Given the description of an element on the screen output the (x, y) to click on. 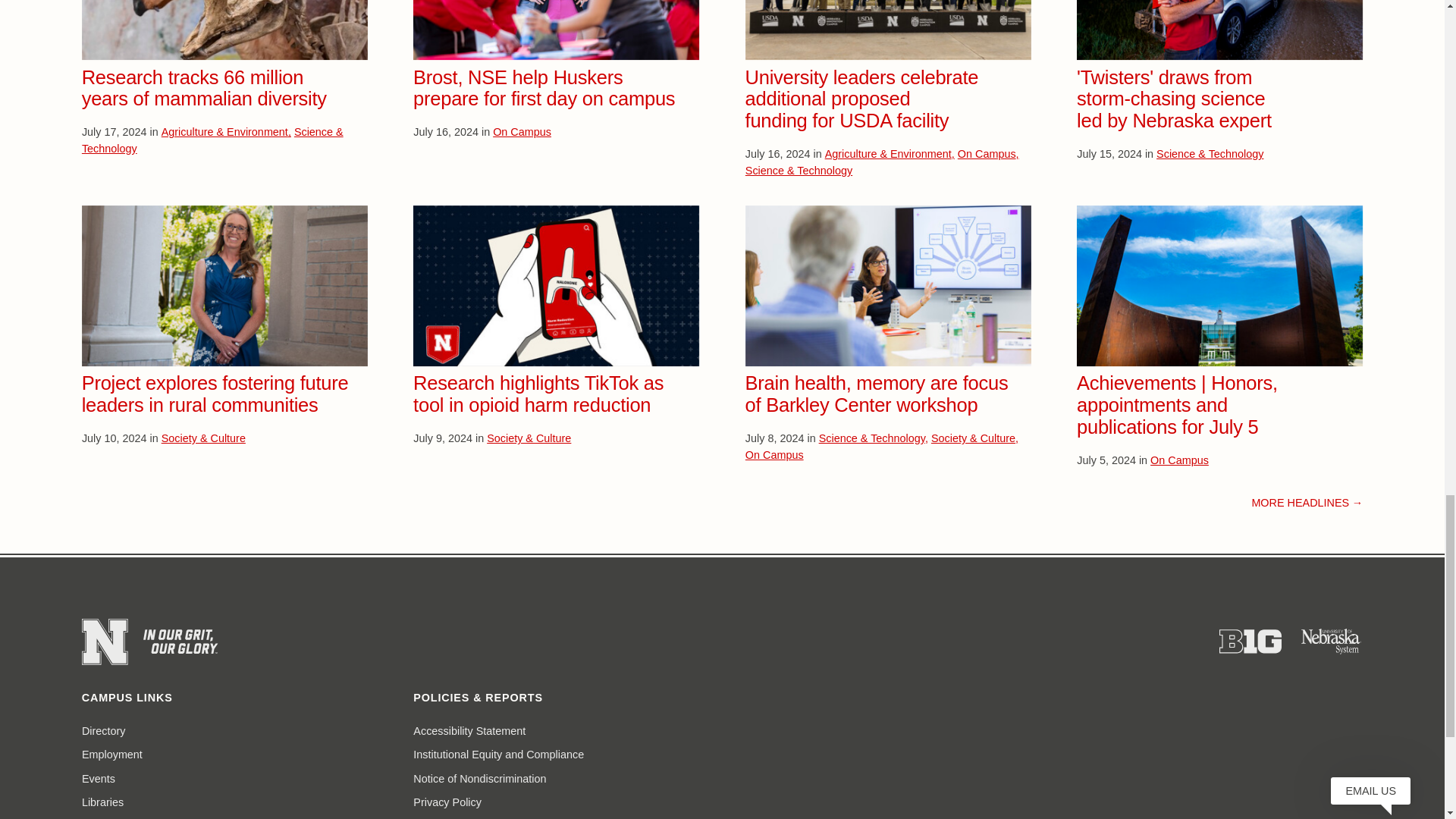
On Campus (522, 132)
Brost, NSE help Huskers prepare for first day on campus (544, 87)
Research tracks 66 million years of mammalian diversity (203, 87)
